Given the description of an element on the screen output the (x, y) to click on. 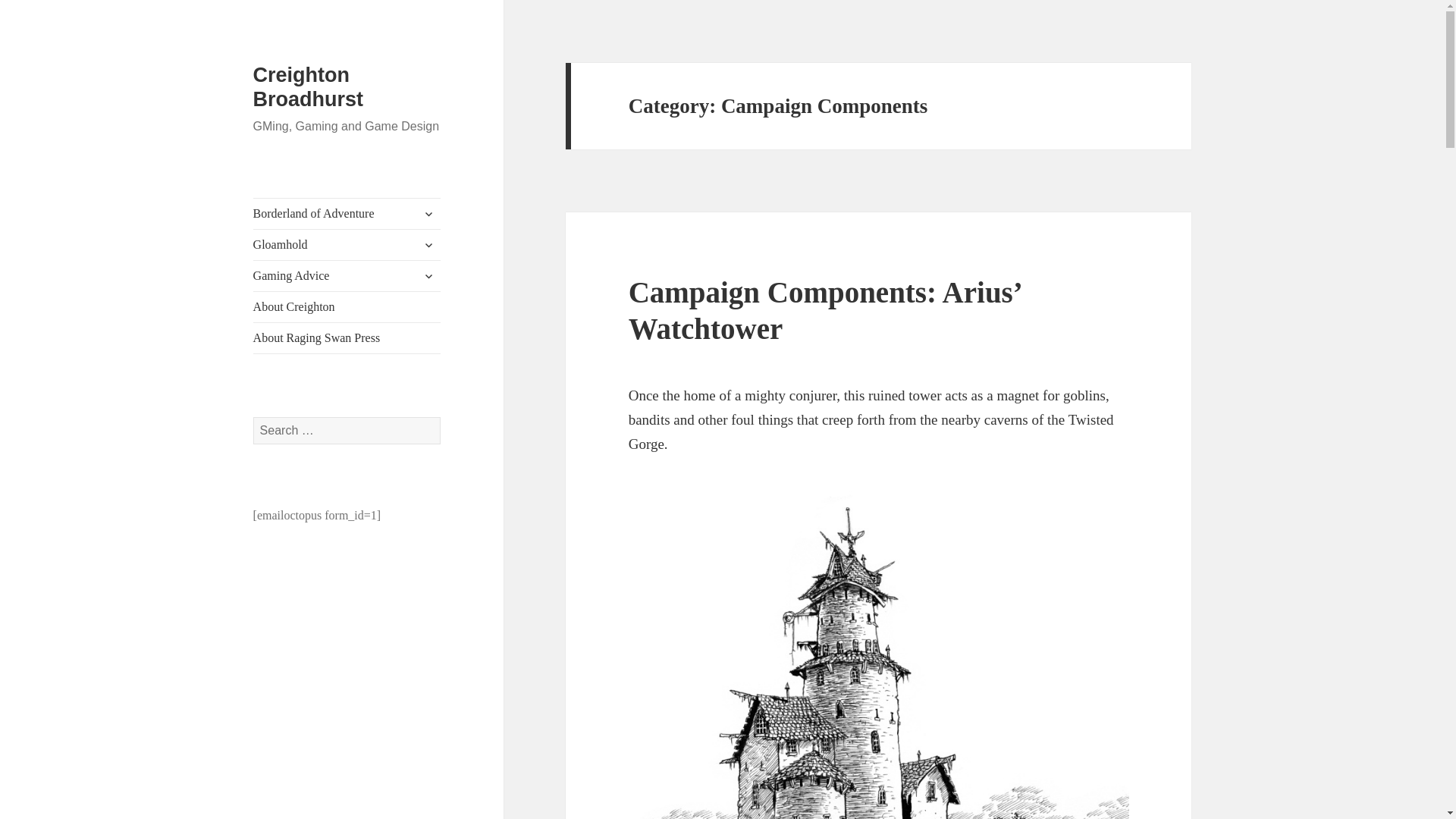
Creighton Broadhurst (308, 86)
Gloamhold (347, 245)
expand child menu (428, 244)
Borderland of Adventure (347, 214)
expand child menu (428, 213)
Gaming Advice (347, 276)
expand child menu (428, 275)
About Raging Swan Press (347, 337)
About Creighton (347, 306)
